Given the description of an element on the screen output the (x, y) to click on. 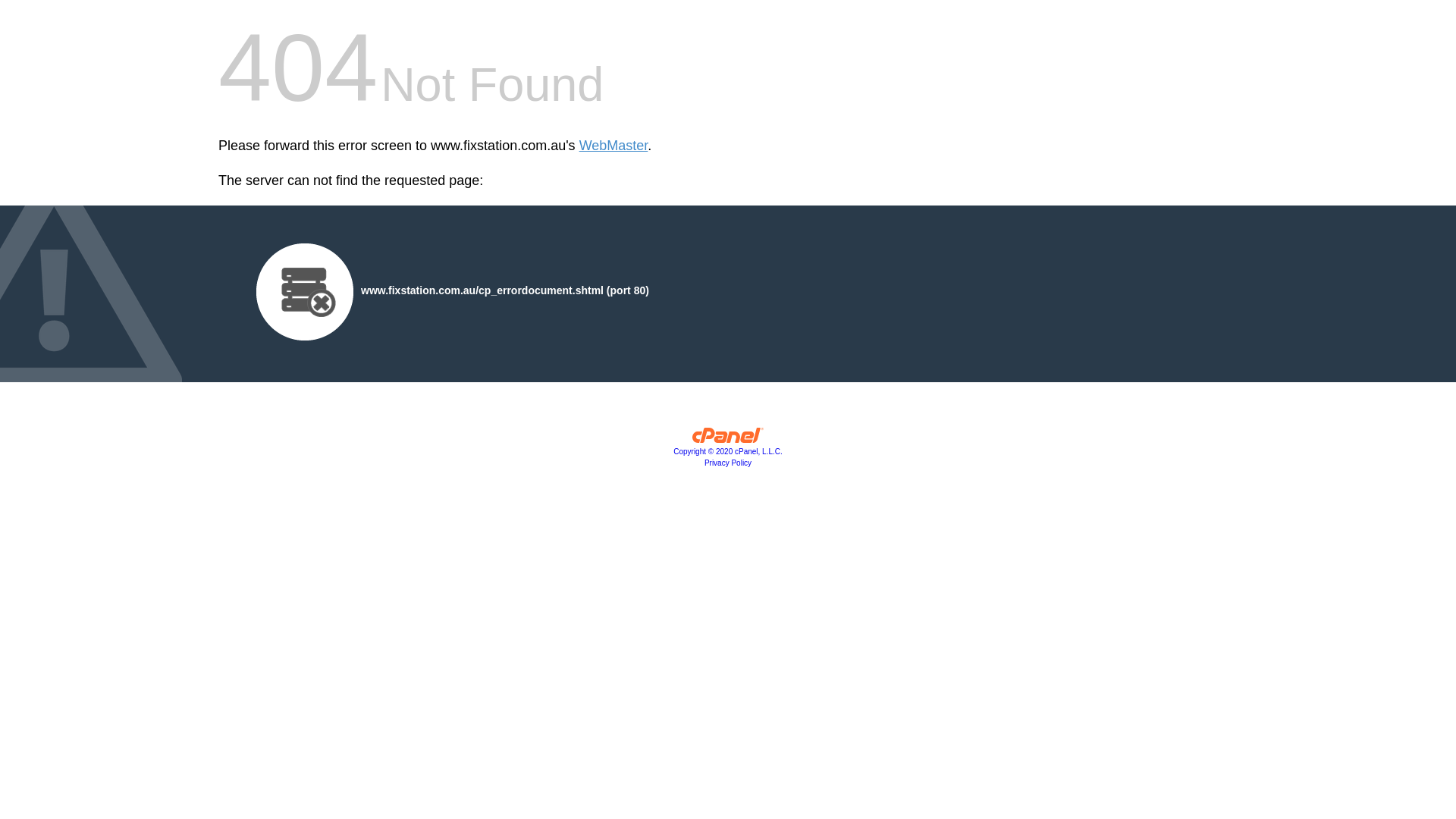
Privacy Policy Element type: text (727, 462)
cPanel, Inc. Element type: hover (728, 439)
WebMaster Element type: text (613, 145)
